Given the description of an element on the screen output the (x, y) to click on. 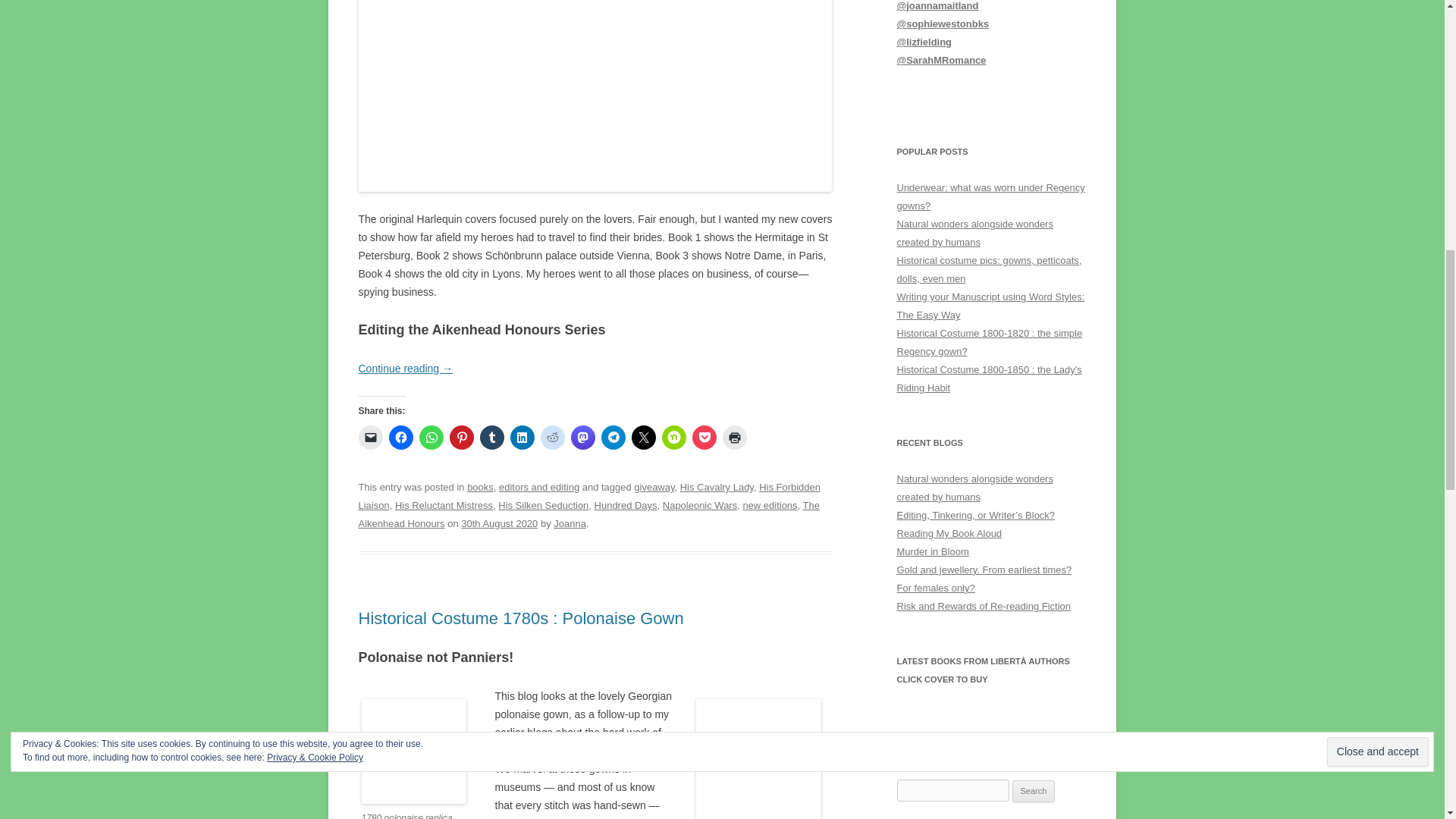
books (480, 487)
Click to share on WhatsApp (430, 437)
Click to share on Telegram (611, 437)
Click to share on Reddit (552, 437)
Click to share on X (642, 437)
Click to print (733, 437)
His Cavalry Lady (716, 487)
His Reluctant Mistress (443, 505)
Search (1033, 791)
editors and editing (539, 487)
